Given the description of an element on the screen output the (x, y) to click on. 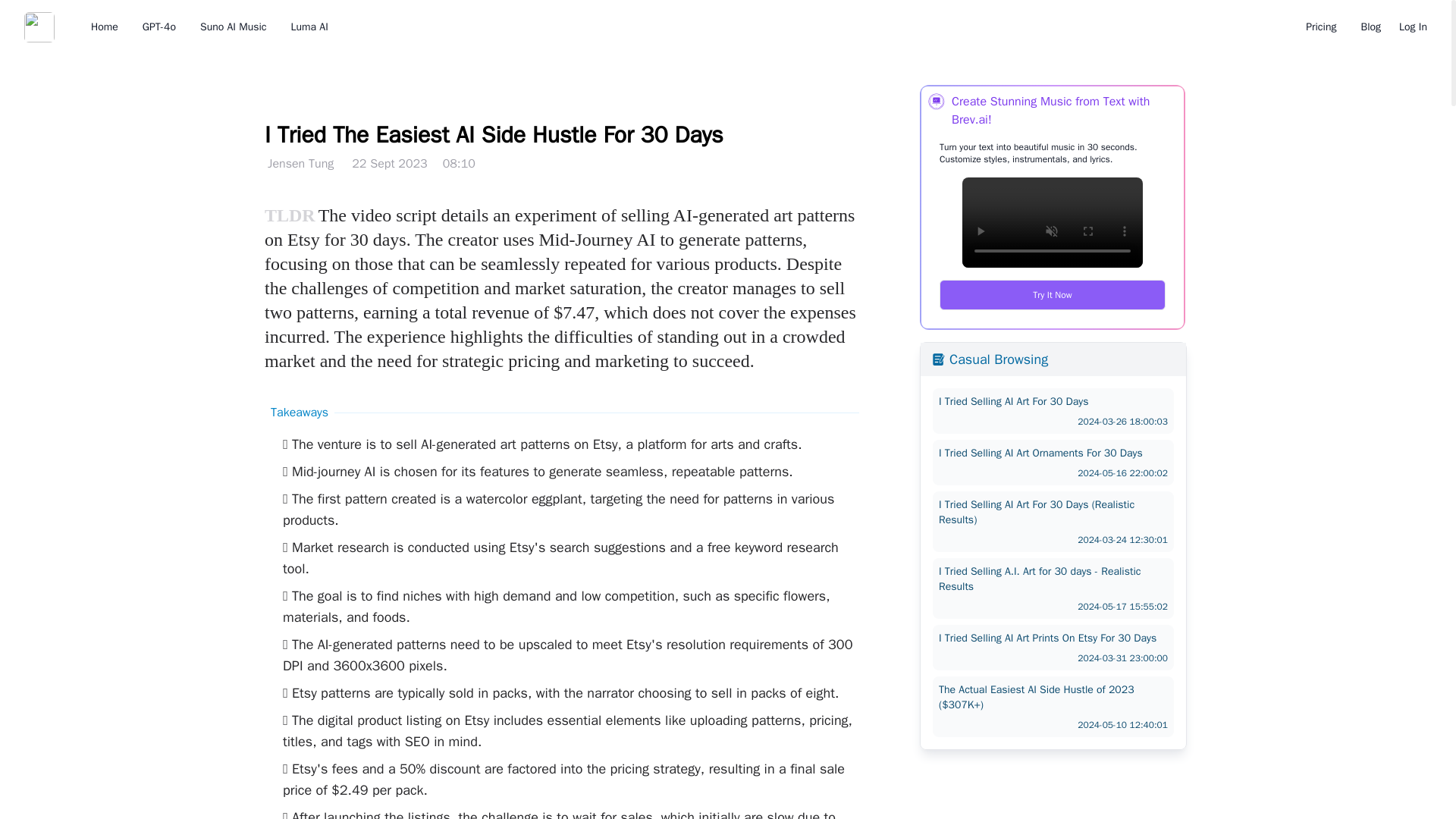
Home (103, 27)
Try It Now (1052, 295)
Blog (1369, 27)
Suno AI Music (1053, 411)
Luma AI (233, 27)
GPT-4o (310, 27)
